Given the description of an element on the screen output the (x, y) to click on. 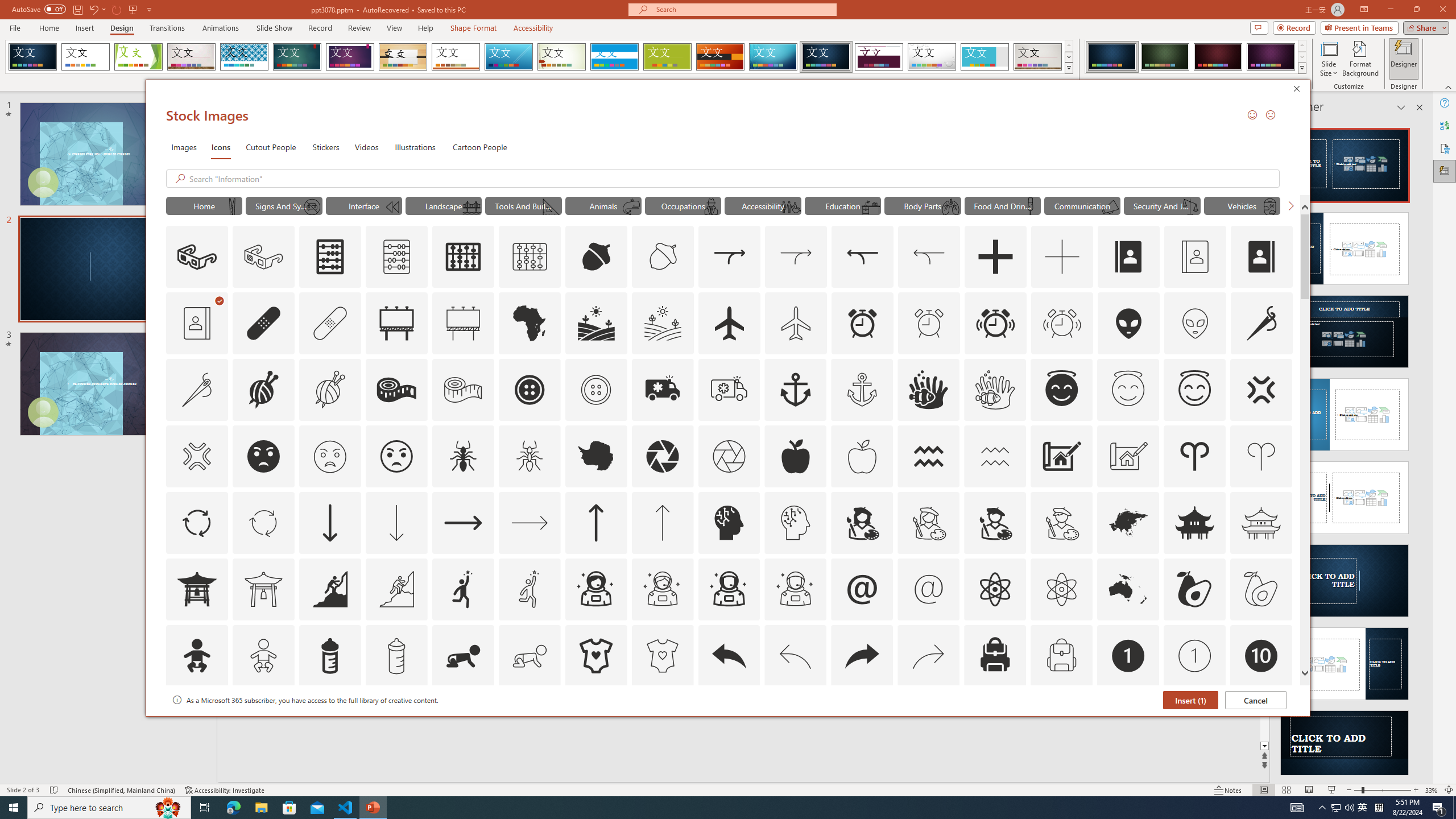
Cancel (1255, 700)
AutomationID: Icons_Aries (1194, 455)
AutomationID: Icons_Whale_M (631, 206)
AutomationID: Icons_Acorn (596, 256)
outline (1194, 389)
AutomationID: Icons_Acquisition_LTR (729, 256)
Droplet (931, 56)
AutomationID: Icons_AlterationsTailoring_M (196, 389)
